Given the description of an element on the screen output the (x, y) to click on. 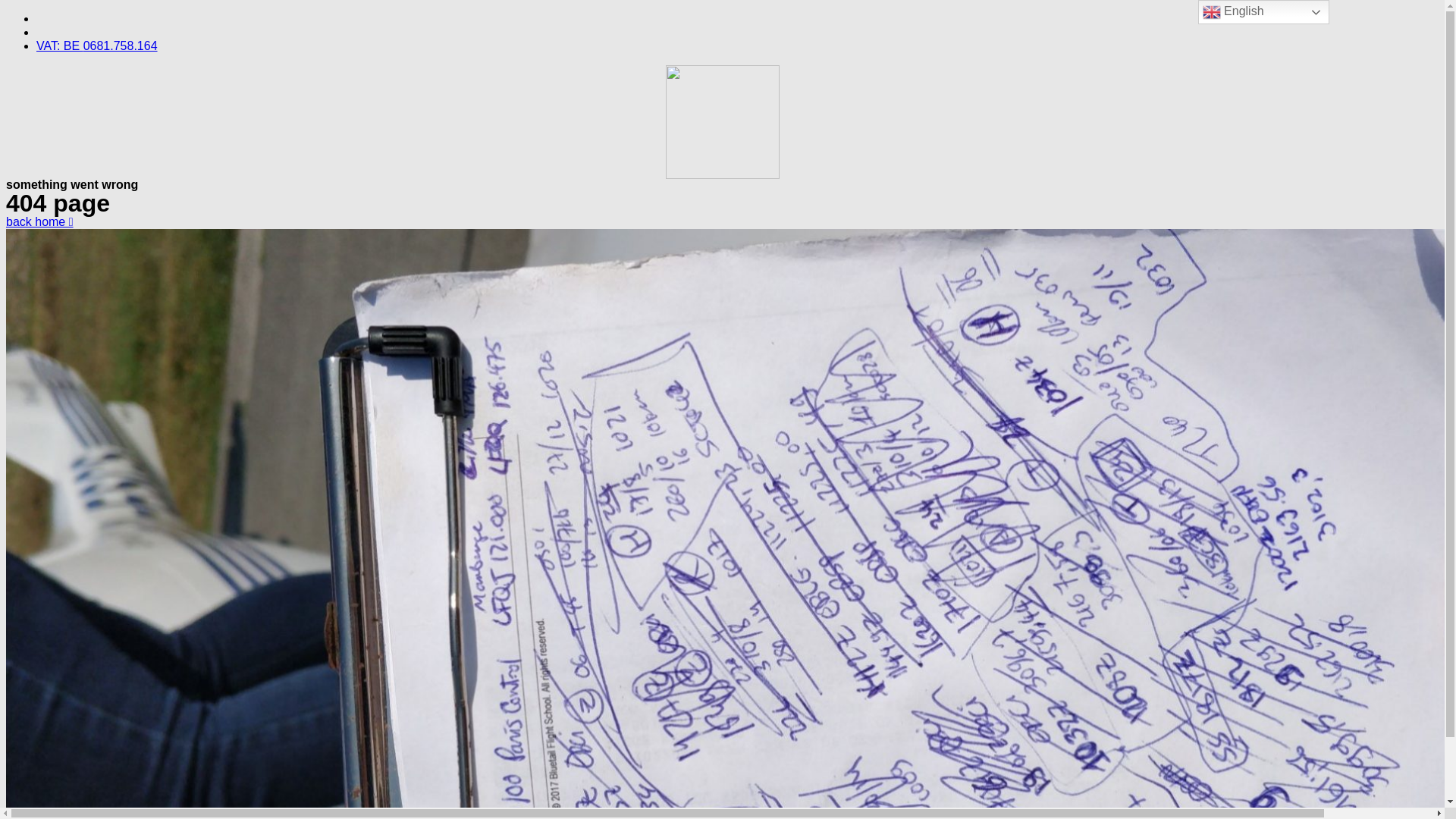
VAT: BE 0681.758.164 Element type: text (96, 45)
English Element type: text (1263, 12)
